Given the description of an element on the screen output the (x, y) to click on. 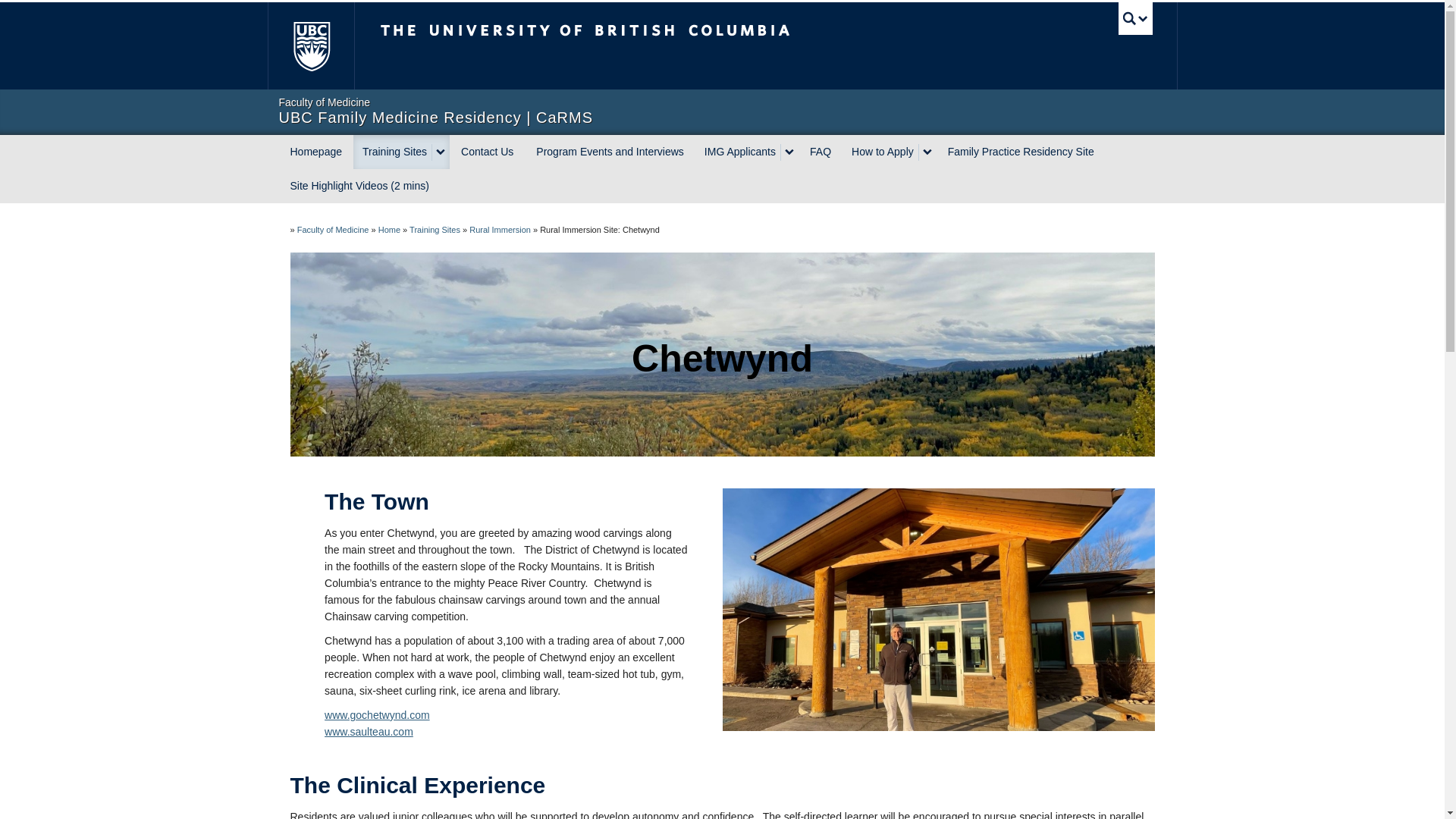
Training Sites (392, 151)
Training Sites (434, 229)
The University of British Columbia (309, 45)
Rural Immersion (499, 229)
Homepage (316, 151)
Family Practice - CARMS (389, 229)
UBC Search (1135, 18)
The University of British Columbia (635, 45)
